Given the description of an element on the screen output the (x, y) to click on. 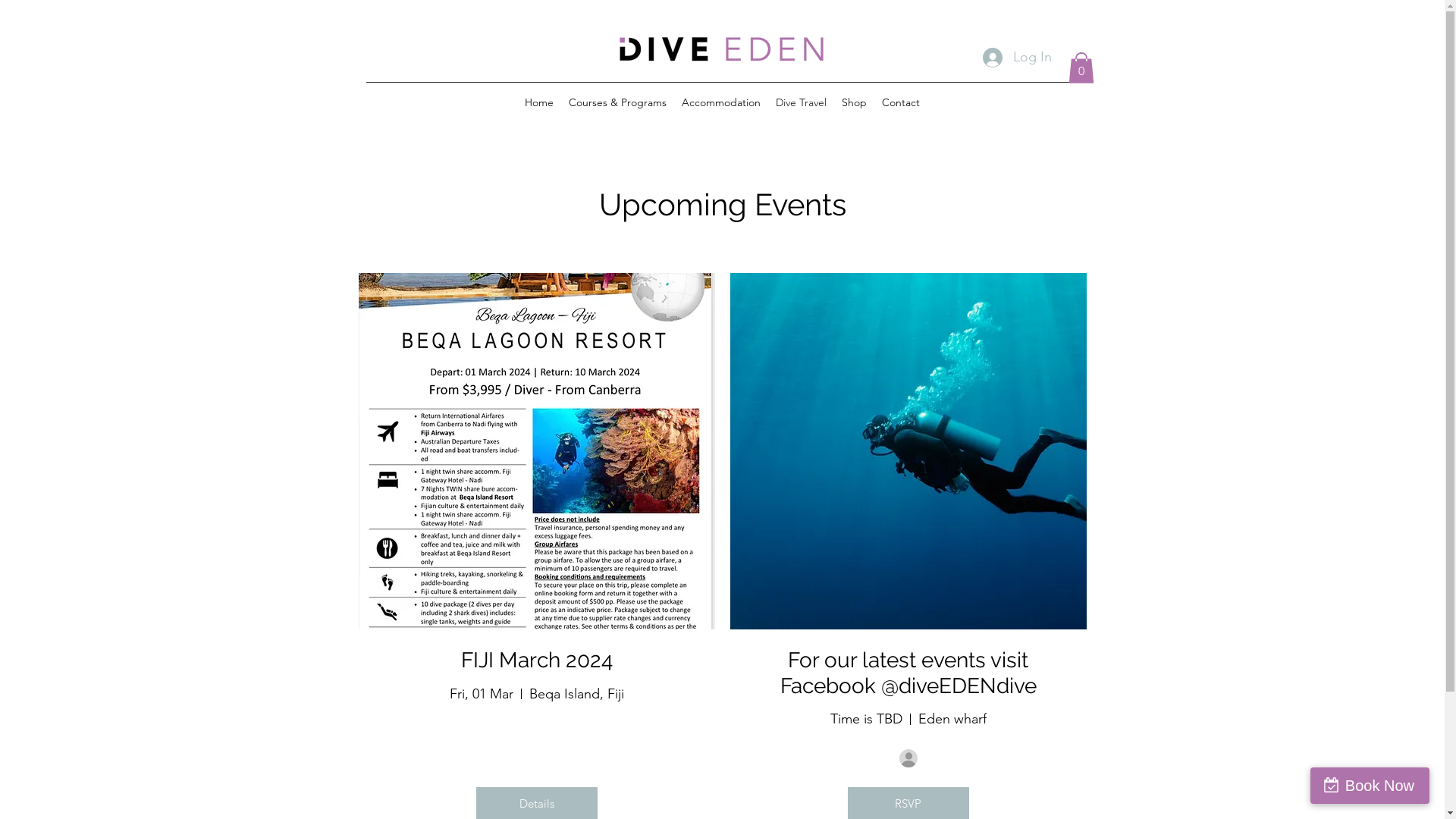
Accommodation Element type: text (721, 102)
Dive Travel Element type: text (801, 102)
Log In Element type: text (1017, 57)
Home Element type: text (539, 102)
FIJI March 2024 Element type: text (536, 659)
Shop Element type: text (854, 102)
Courses & Programs Element type: text (617, 102)
Book Now Element type: text (1369, 785)
For our latest events visit Facebook @diveEDENdive Element type: text (907, 672)
0 Element type: text (1080, 67)
Contact Element type: text (900, 102)
